Given the description of an element on the screen output the (x, y) to click on. 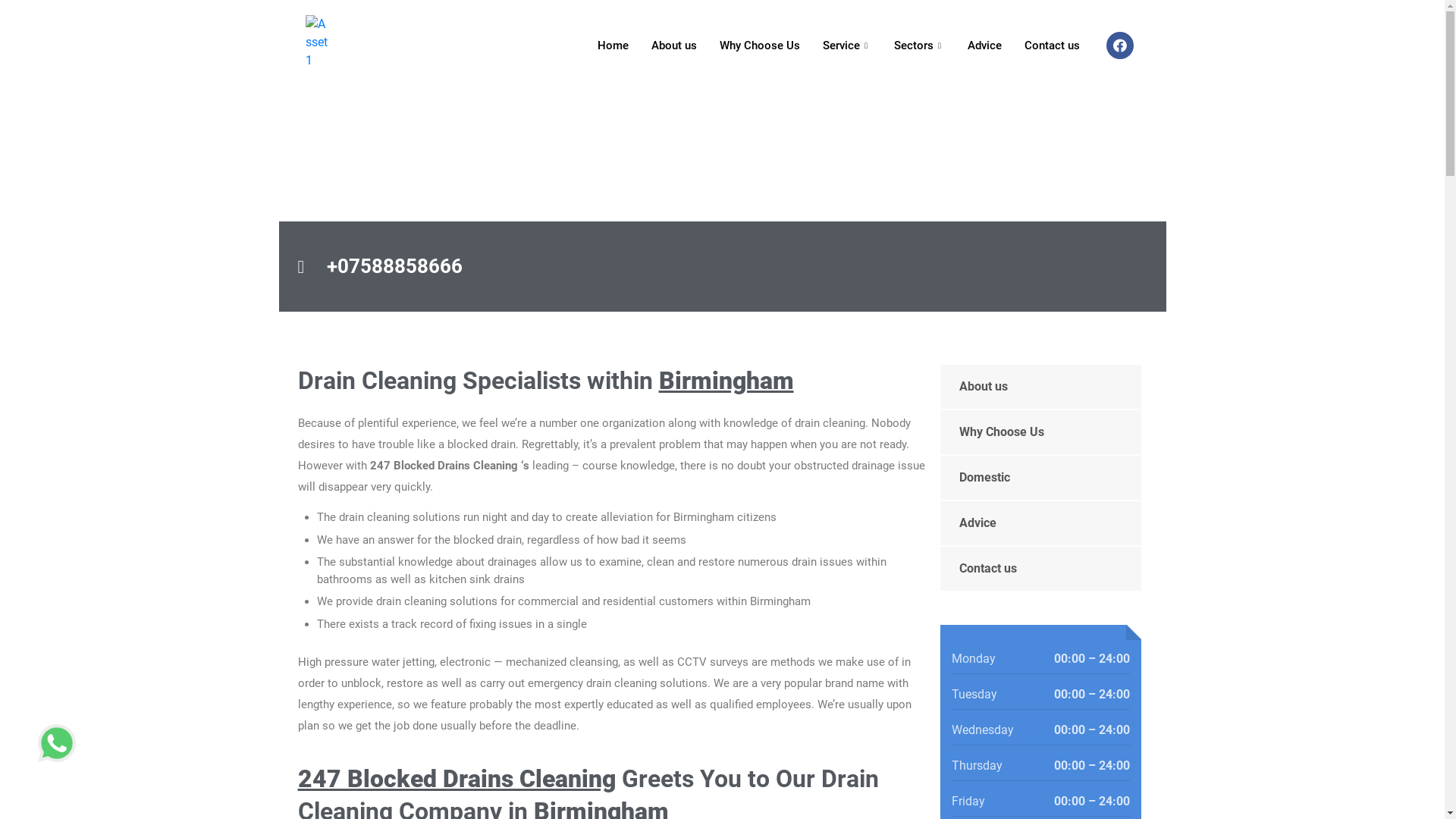
About us Element type: text (1040, 386)
About us Element type: text (674, 45)
Why Choose Us Element type: text (759, 45)
Asset 1 Element type: hover (316, 42)
+07588858666 Element type: text (721, 266)
Home Element type: text (613, 45)
Sectors Element type: text (919, 45)
Domestic Element type: text (1040, 477)
Why Choose Us Element type: text (1040, 432)
Advice Element type: text (1040, 523)
Contact us Element type: text (1040, 568)
Advice Element type: text (984, 45)
Service Element type: text (846, 45)
Contact us Element type: text (1052, 45)
